Given the description of an element on the screen output the (x, y) to click on. 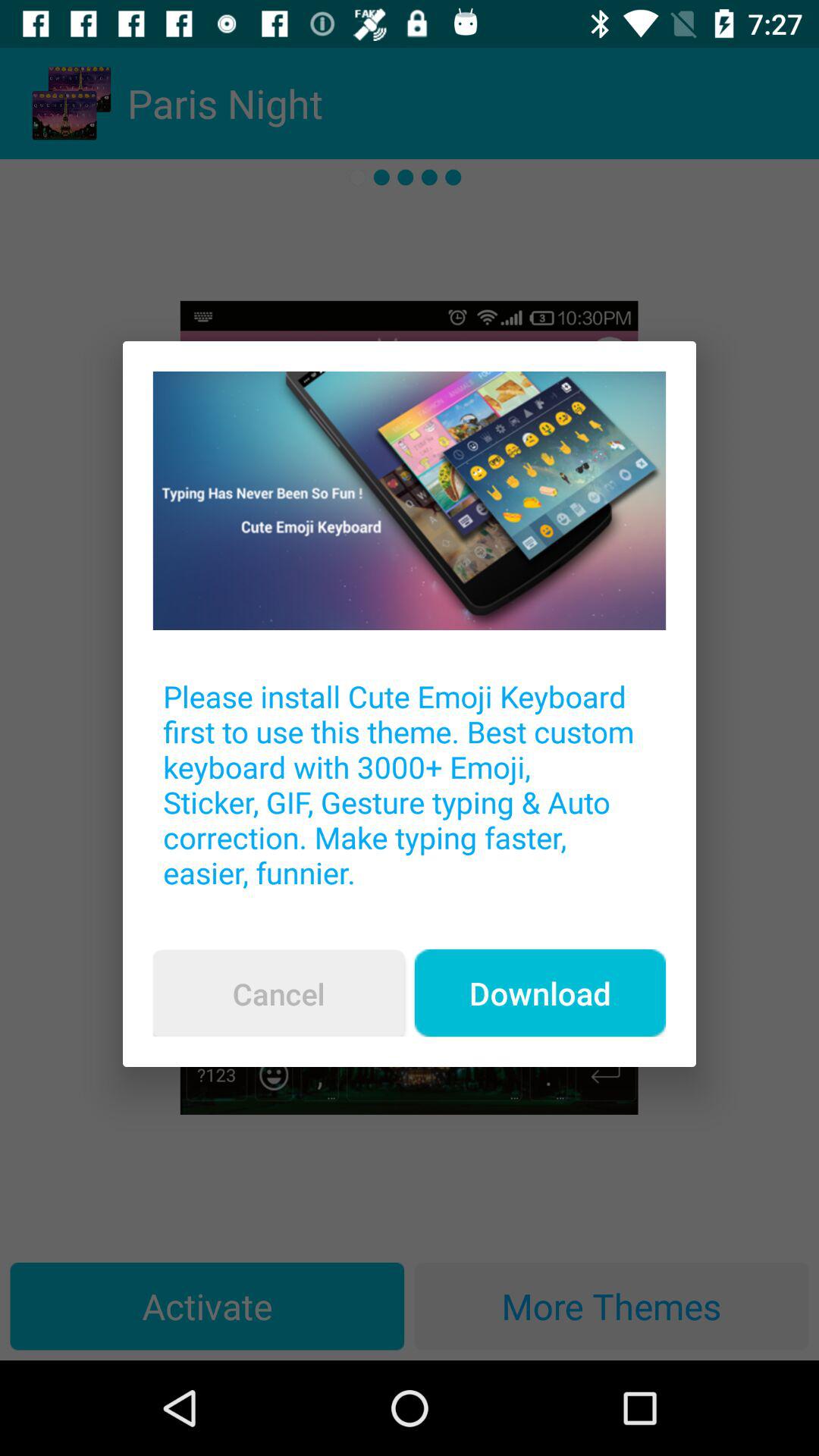
click icon below the please install cute item (278, 993)
